Given the description of an element on the screen output the (x, y) to click on. 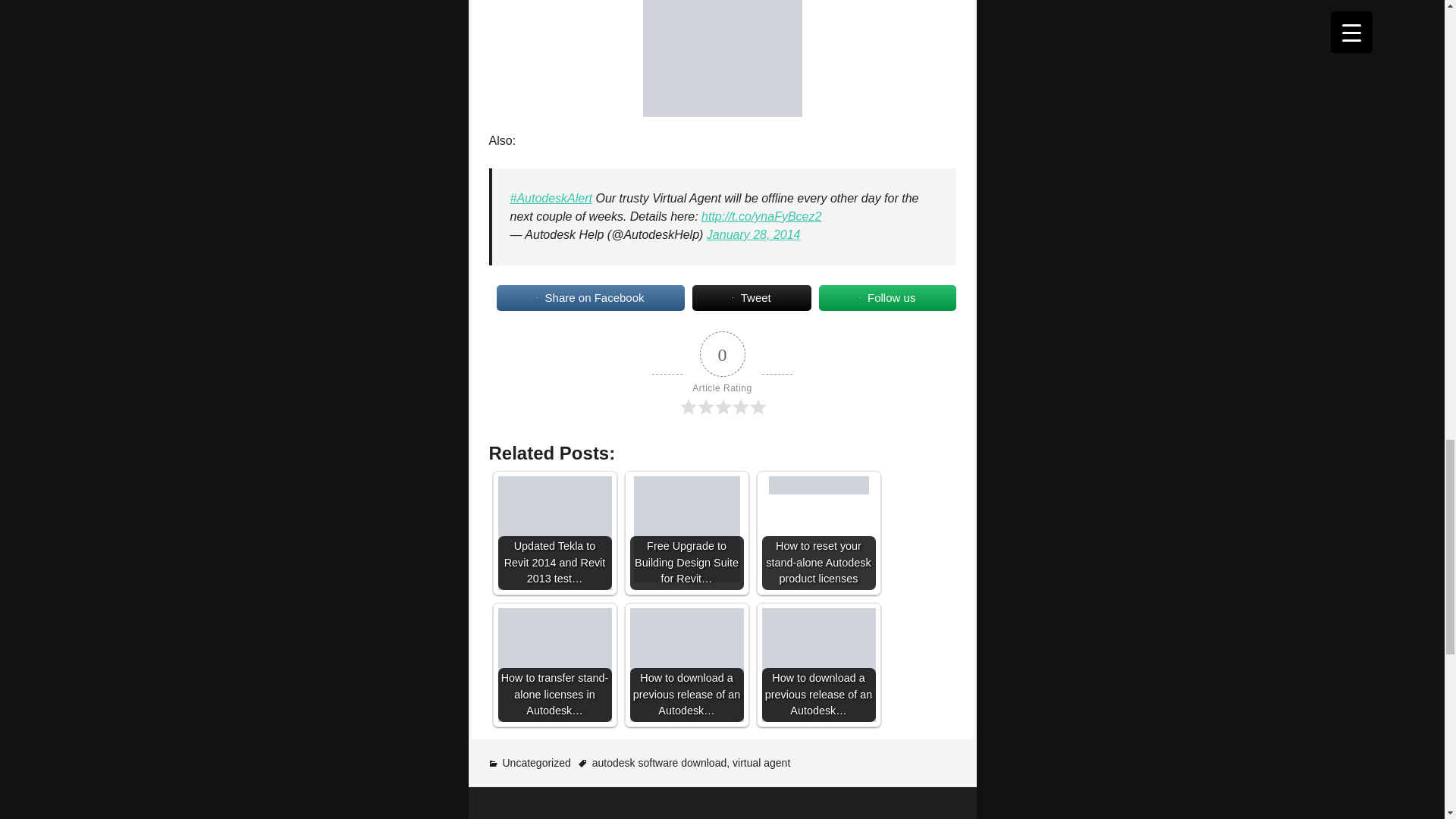
virtual agent (761, 762)
Follow us (887, 297)
Uncategorized (536, 762)
January 28, 2014 (753, 234)
Share on Facebook (590, 297)
Tweet (751, 297)
autodesk software download (659, 762)
How to reset your stand-alone Autodesk product licenses (818, 484)
